Given the description of an element on the screen output the (x, y) to click on. 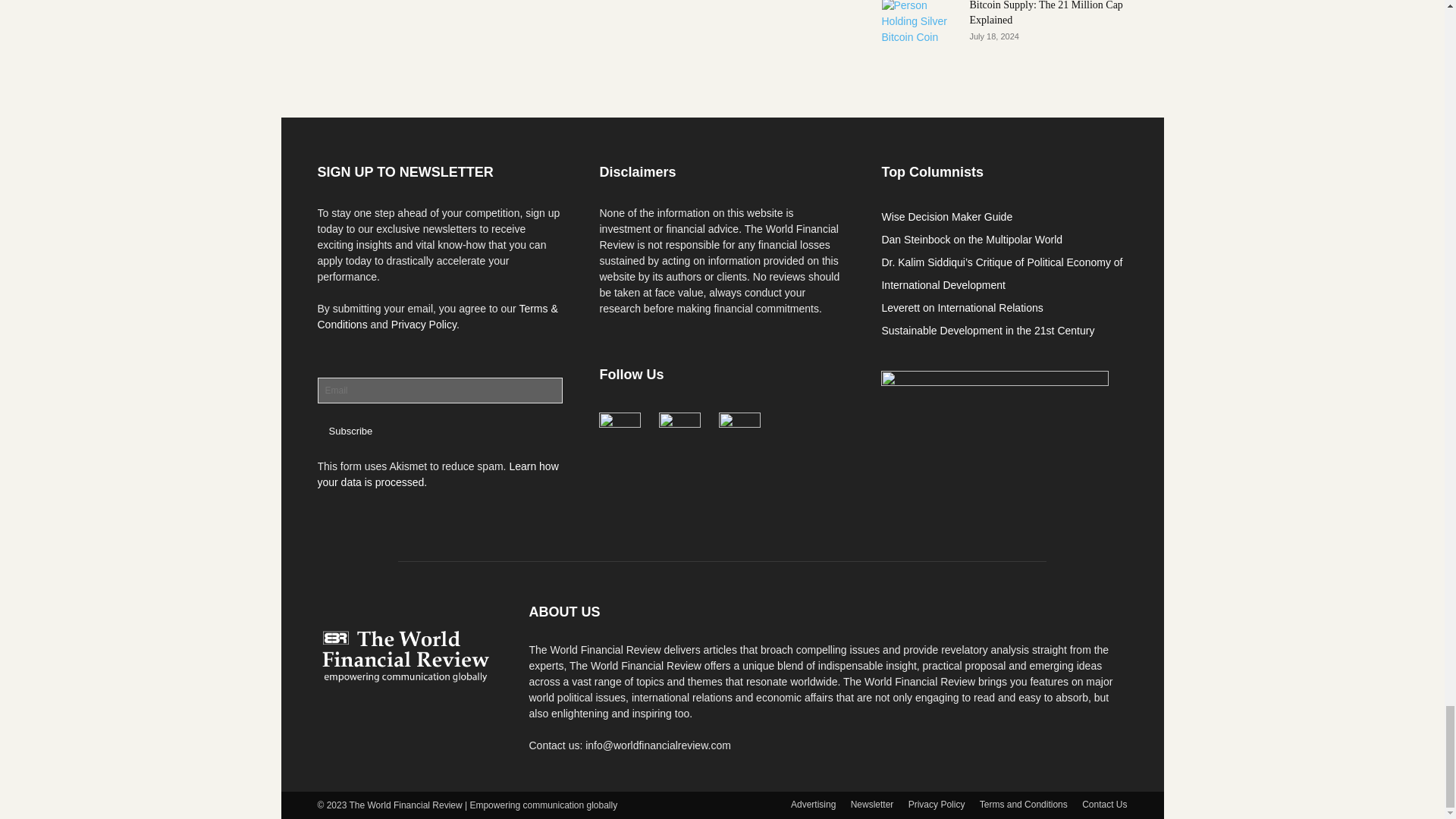
Subscribe (350, 431)
